Given the description of an element on the screen output the (x, y) to click on. 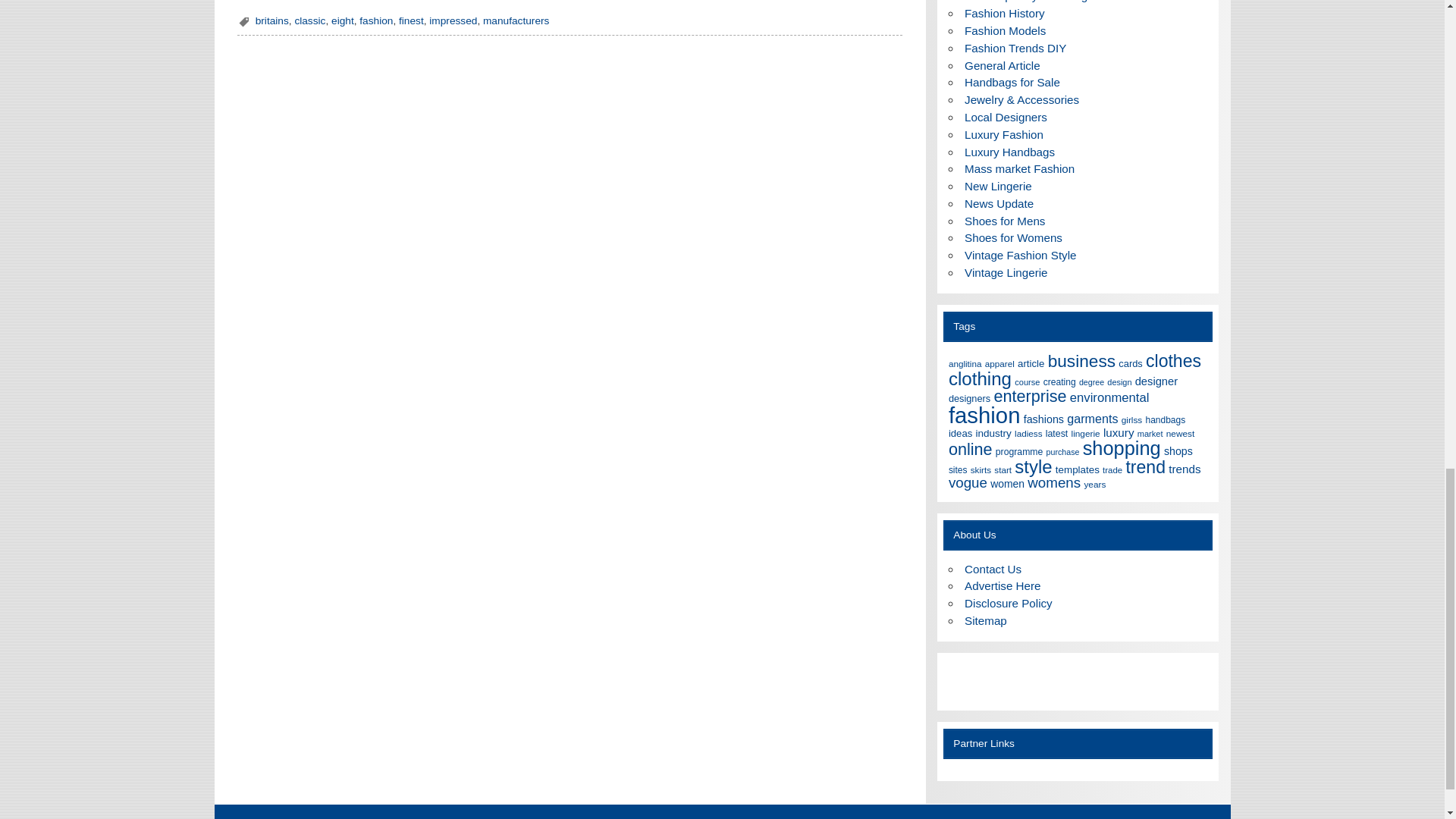
impressed (453, 20)
eight (342, 20)
manufacturers (515, 20)
fashion (376, 20)
britains (272, 20)
finest (410, 20)
classic (309, 20)
